Given the description of an element on the screen output the (x, y) to click on. 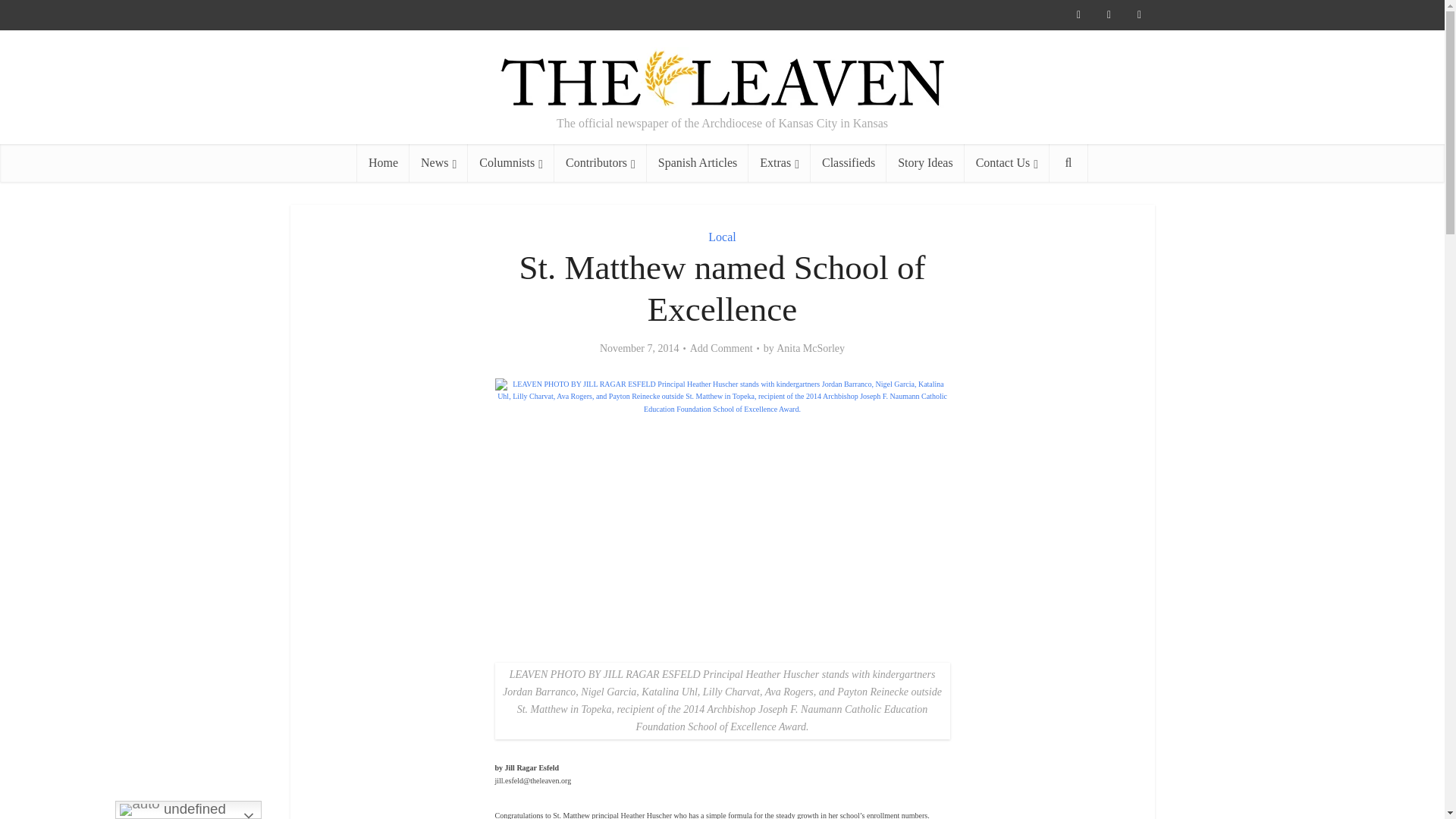
Spanish Articles (697, 162)
Contributors (600, 162)
None (438, 162)
Extras (779, 162)
Classifieds (848, 162)
Columnists (510, 162)
News (438, 162)
Home (382, 162)
